Given the description of an element on the screen output the (x, y) to click on. 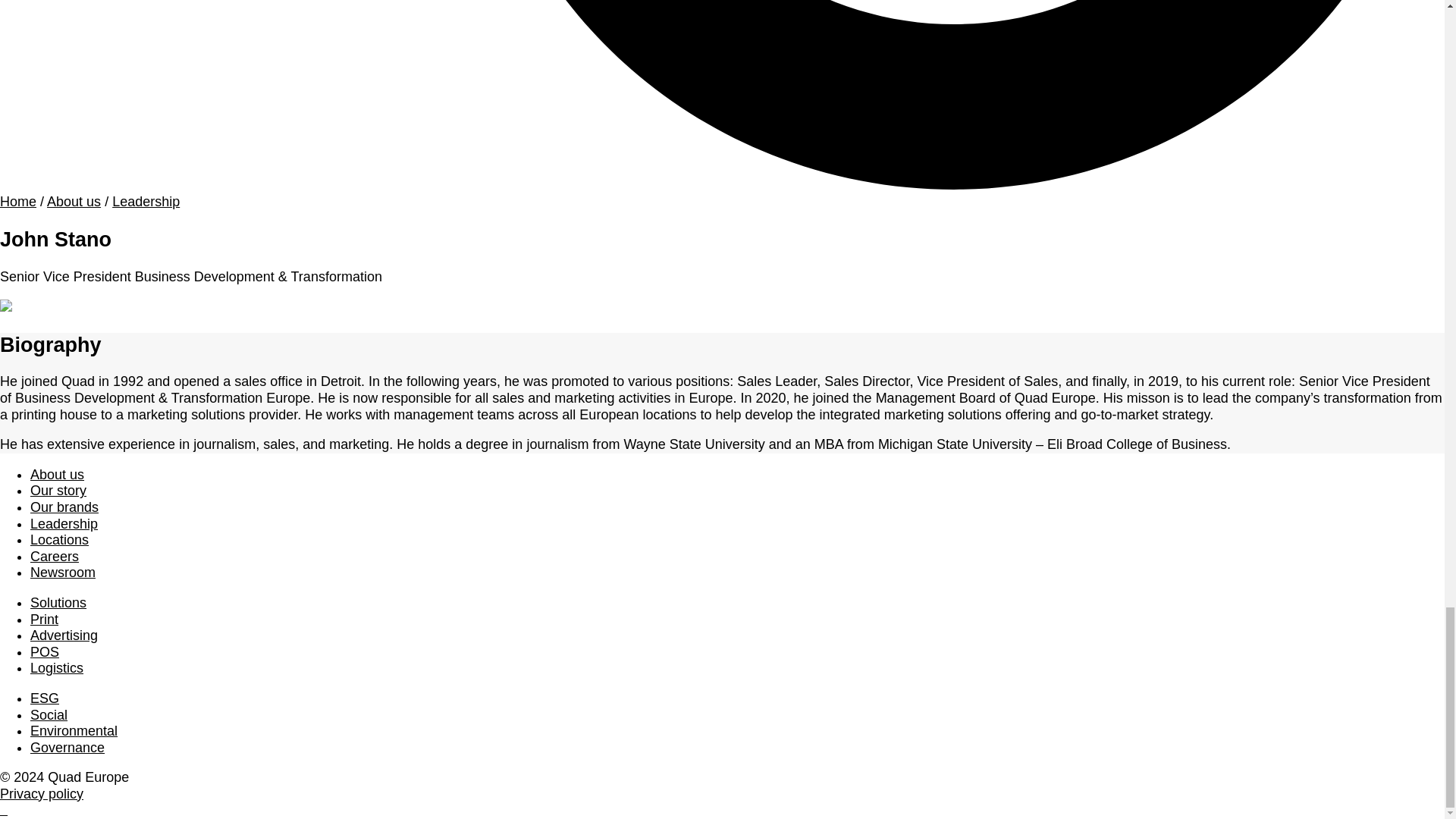
Solutions (57, 602)
Our story (57, 490)
Leadership (63, 523)
Newsroom (63, 572)
Leadership (145, 201)
Locations (59, 539)
Home (18, 201)
About us (73, 201)
Print (44, 619)
Careers (54, 556)
